Given the description of an element on the screen output the (x, y) to click on. 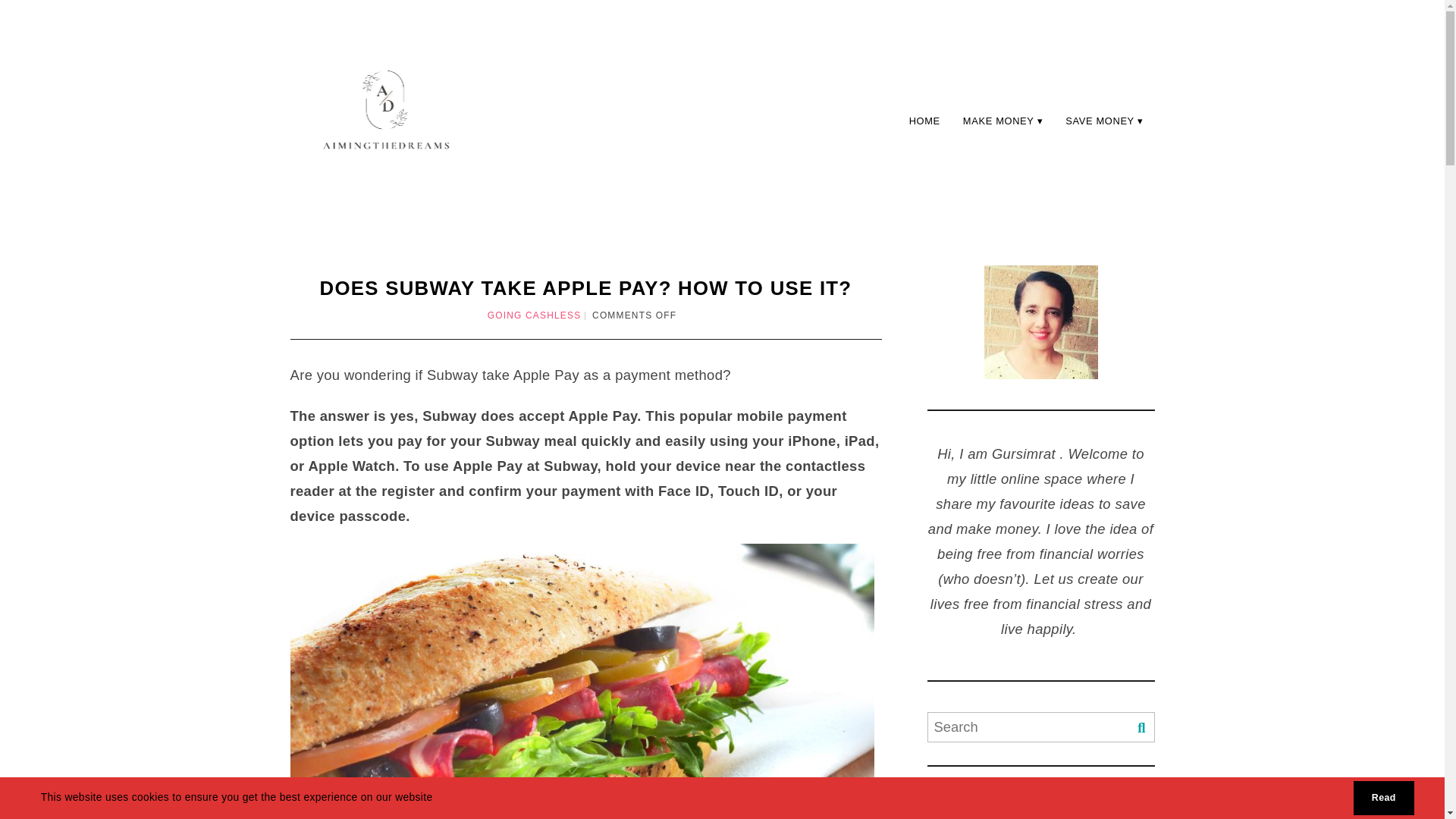
DOES SUBWAY TAKE APPLE PAY? HOW TO USE IT? (585, 287)
GOING CASHLESS (533, 315)
HOME (925, 120)
Read (1382, 797)
SAVE MONEY (1104, 120)
Aimingthedreams (384, 117)
Does Subway Take Apple Pay? How to use it? (585, 287)
MAKE MONEY (1003, 120)
